Given the description of an element on the screen output the (x, y) to click on. 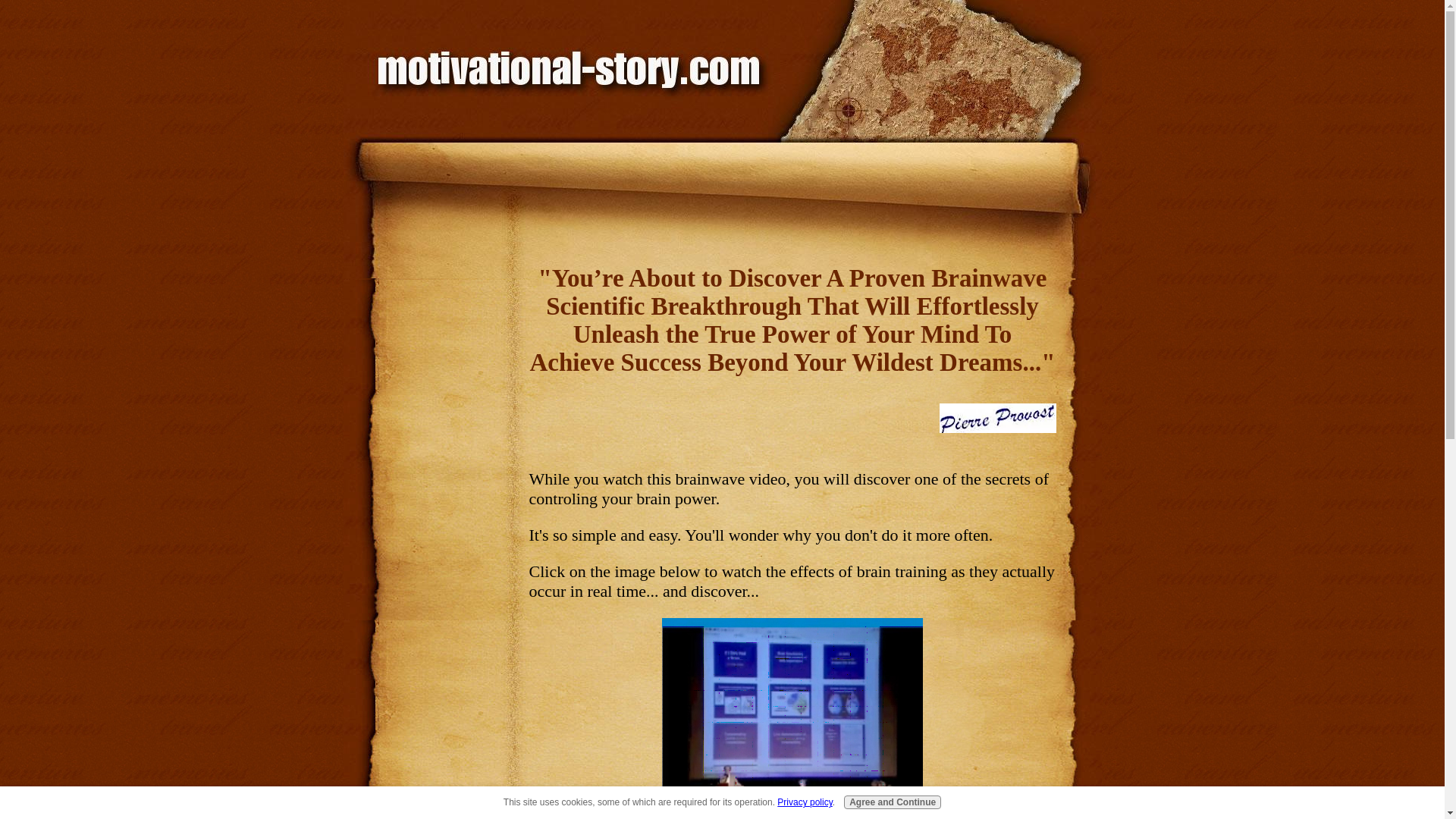
Agree and Continue (892, 802)
Privacy policy (804, 801)
Brainwave Power (792, 718)
Brainwave Power (997, 418)
